Given the description of an element on the screen output the (x, y) to click on. 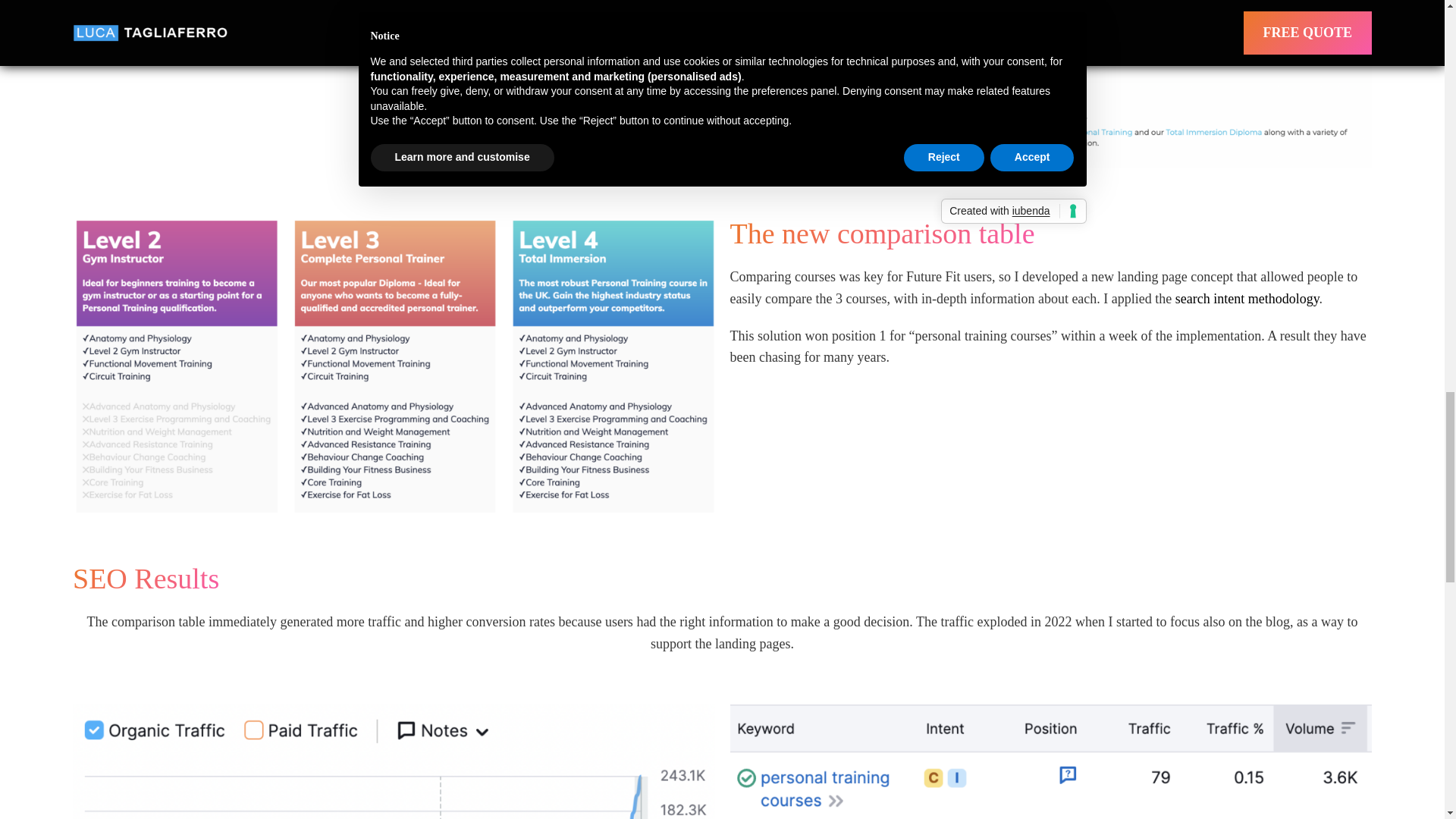
search intent methodology (1246, 298)
